Given the description of an element on the screen output the (x, y) to click on. 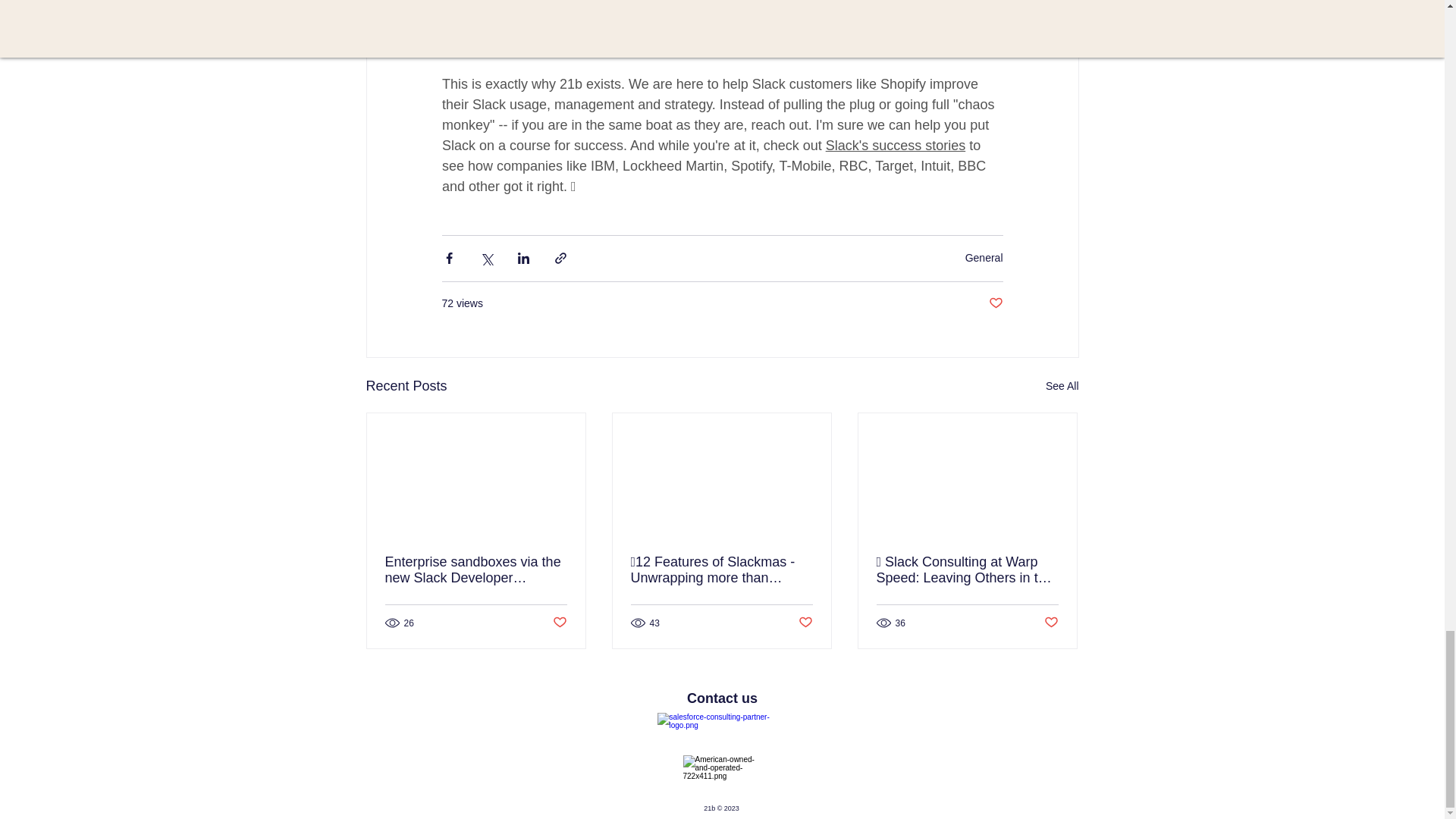
Slack's success stories (895, 145)
General (984, 257)
See All (1061, 386)
Post not marked as liked (1050, 622)
Enterprise sandboxes via the new Slack Developer Program (476, 570)
Contact us (722, 698)
Post not marked as liked (804, 622)
Post not marked as liked (558, 622)
Post not marked as liked (995, 303)
